Given the description of an element on the screen output the (x, y) to click on. 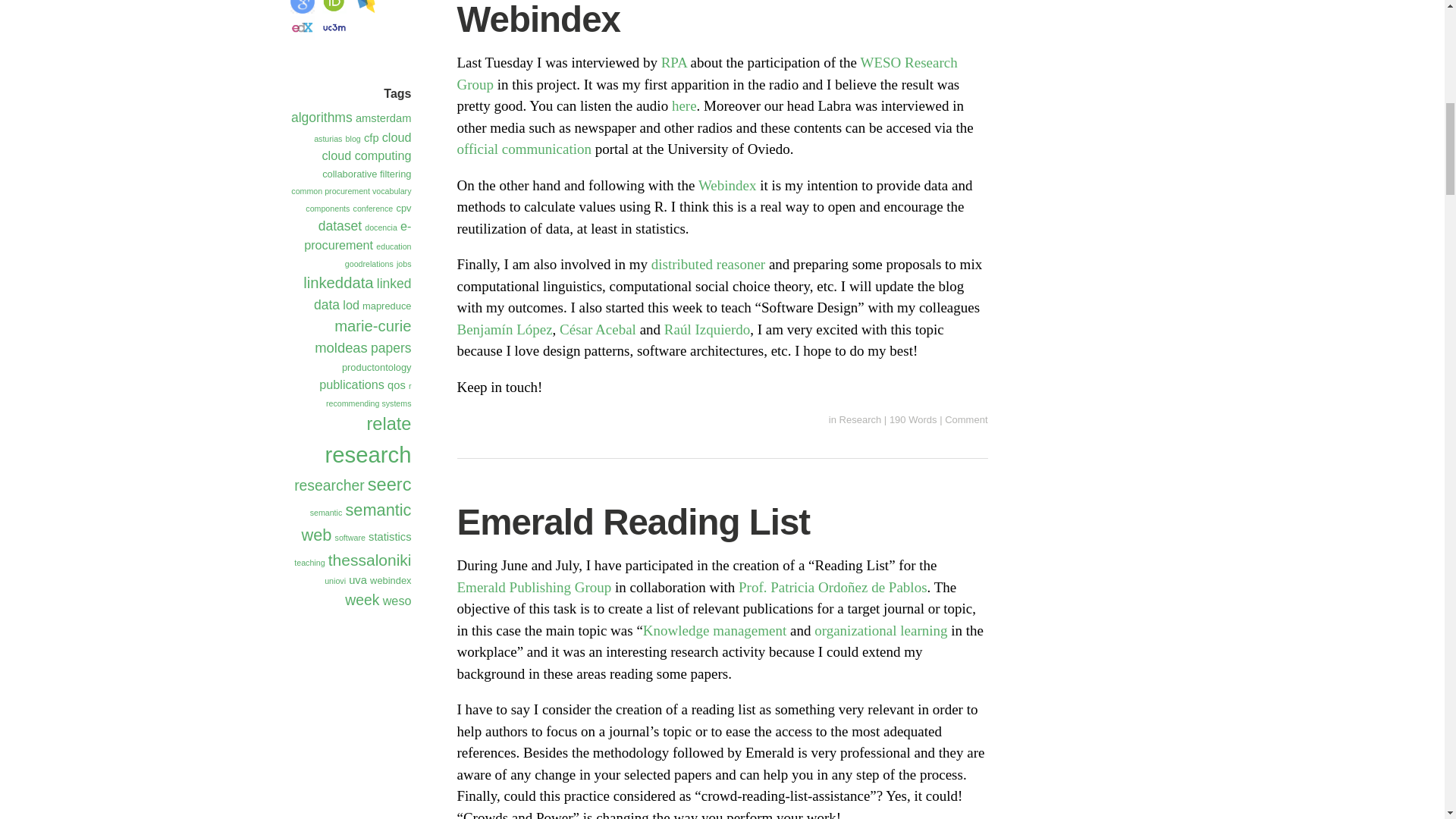
RPA (675, 62)
Webindex (729, 185)
distributed reasoner (707, 263)
RTPA (675, 62)
Comment (965, 419)
News (524, 148)
official communication (524, 148)
Research (861, 419)
Emerald (534, 587)
Emerald Reading List (633, 522)
